Given the description of an element on the screen output the (x, y) to click on. 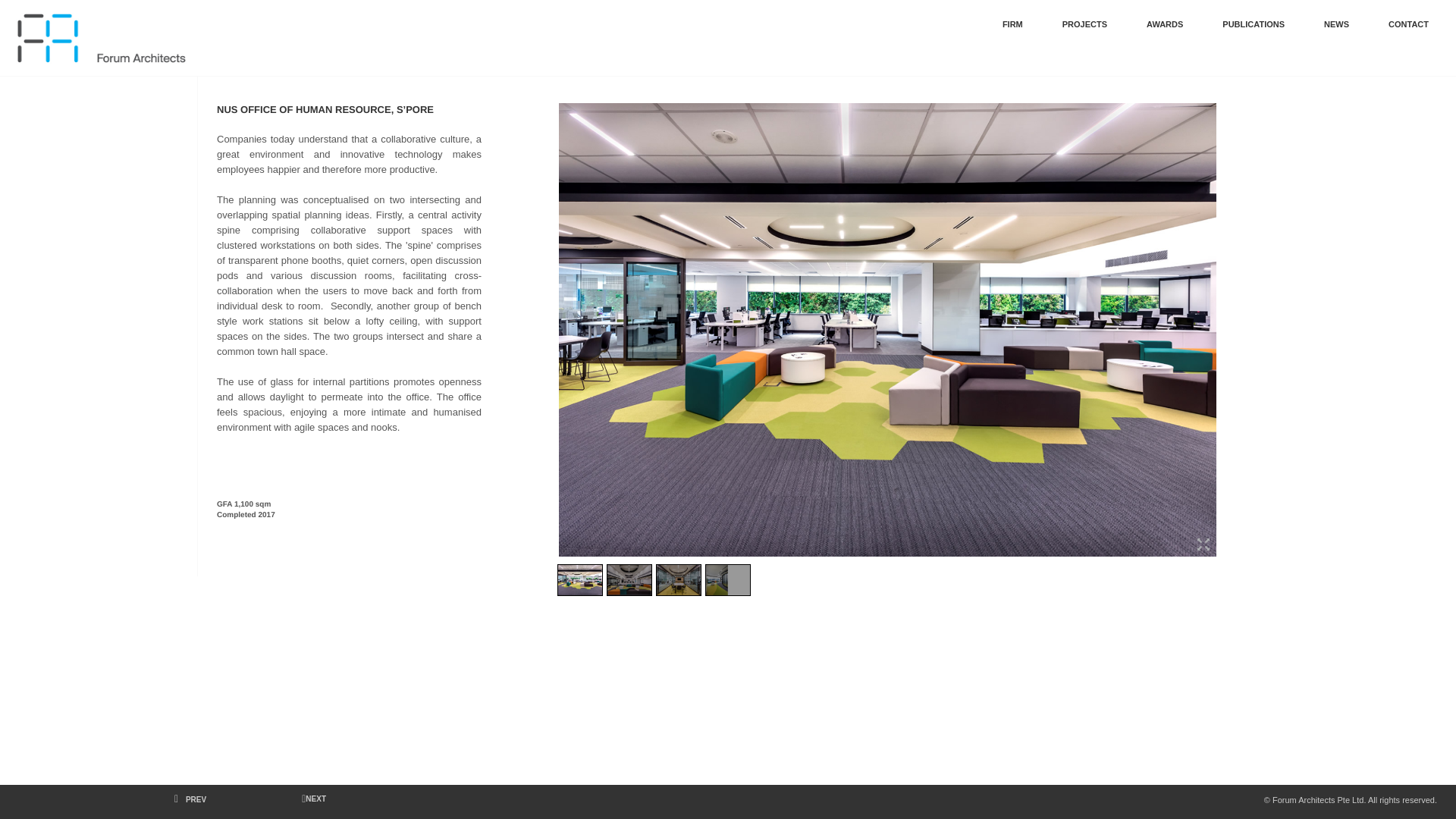
CONTACT (1408, 23)
PREV (190, 799)
FIRM (1013, 23)
NEWS (1336, 23)
PUBLICATIONS (1253, 23)
NEXT (311, 799)
OBS Urban Adventure Centre, S'pore (311, 799)
AWARDS (1164, 23)
PROJECTS (1084, 23)
